Given the description of an element on the screen output the (x, y) to click on. 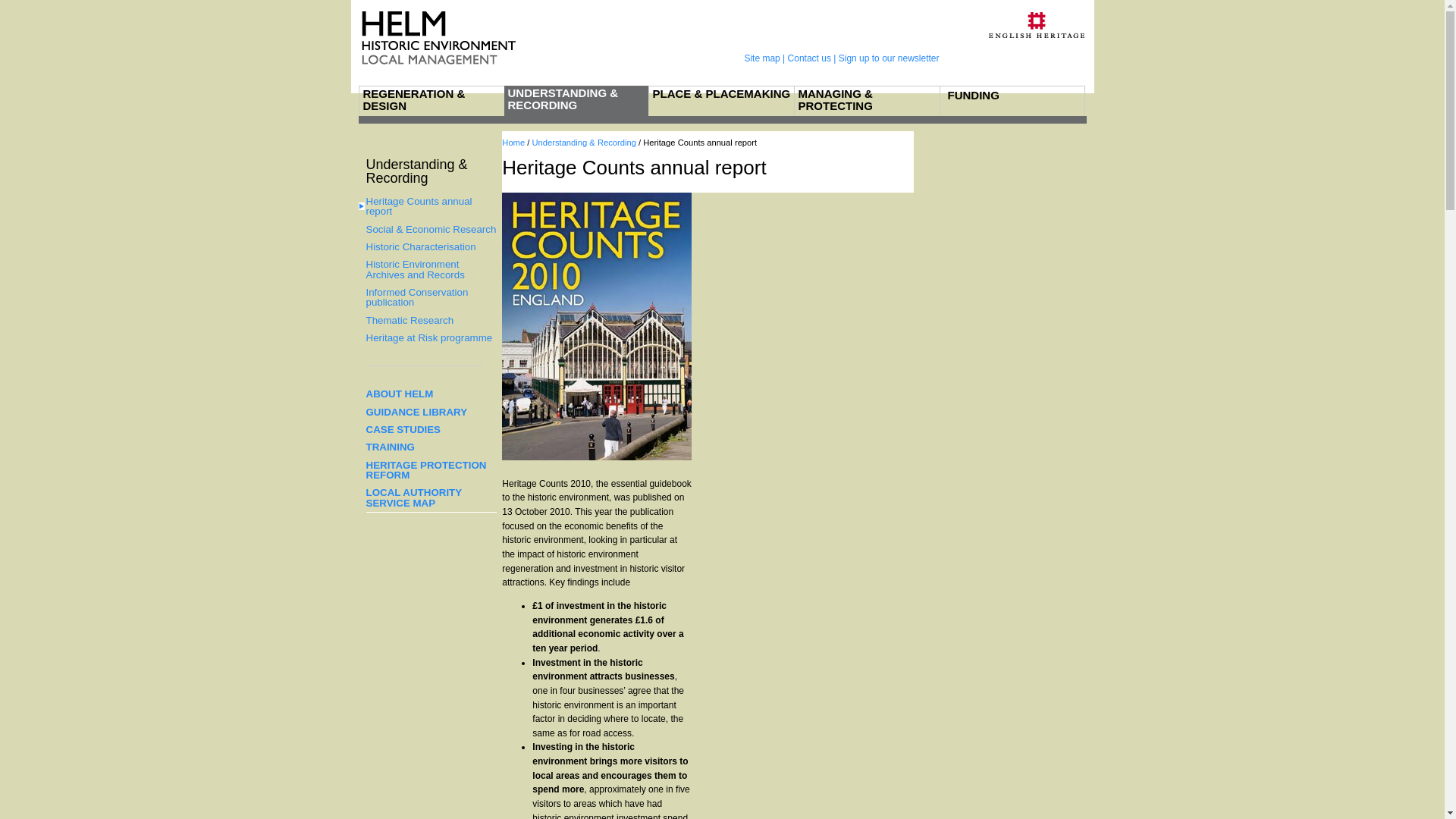
Contact us (809, 58)
Site map (761, 58)
Home (513, 142)
ABOUT HELM (430, 393)
LOCAL AUTHORITY SERVICE MAP (430, 497)
CASE STUDIES (430, 429)
Historic Characterisation (430, 246)
FUNDING (1013, 95)
Heritage Counts annual report (423, 206)
Navigate to: Heritage Counts annual report (700, 142)
Heritage Counts annual report (700, 142)
Sign up to our newsletter (888, 58)
Heritage at Risk programme (430, 337)
Navigate to: HELM (513, 142)
Thematic Research (430, 320)
